Given the description of an element on the screen output the (x, y) to click on. 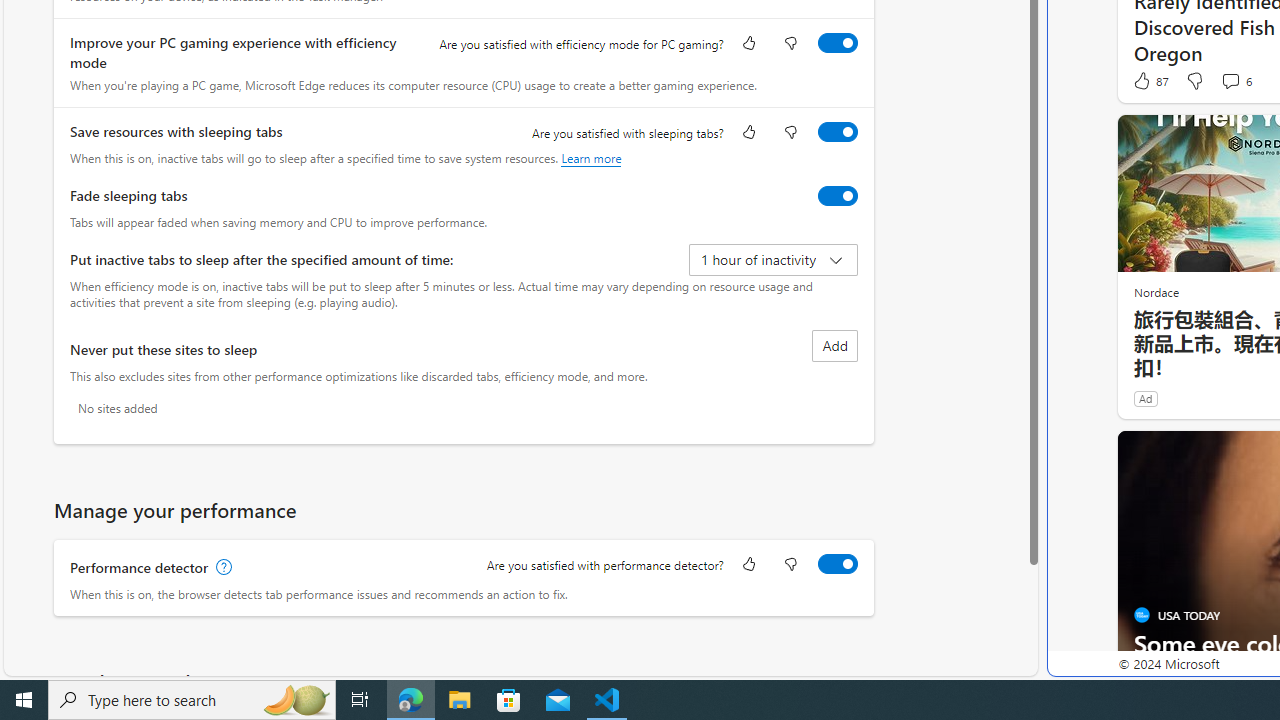
View comments 6 Comment (1230, 80)
